Given the description of an element on the screen output the (x, y) to click on. 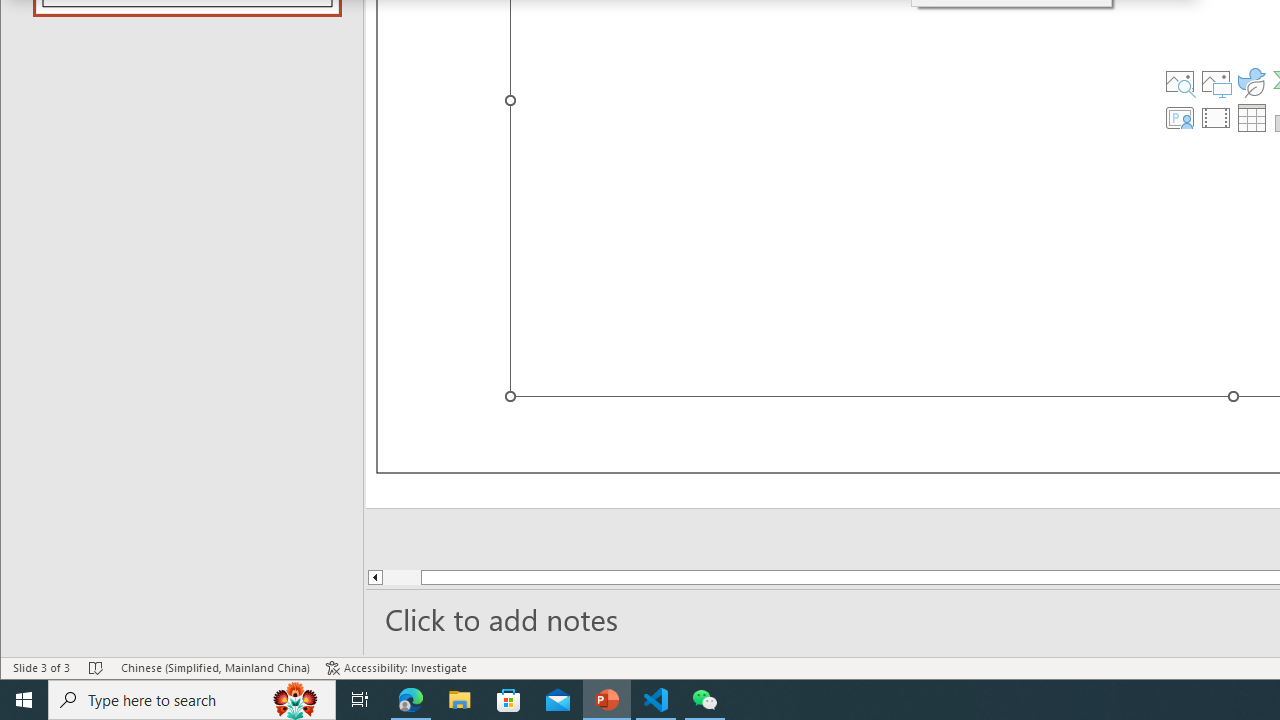
Stock Images (1179, 81)
Microsoft Store (509, 699)
Visual Studio Code - 1 running window (656, 699)
Pictures (1215, 81)
Insert Video (1215, 117)
Start (24, 699)
Page up (438, 577)
Line up (374, 577)
Task View (359, 699)
Insert Table (1252, 117)
Microsoft Edge - 1 running window (411, 699)
Insert an Icon (1252, 81)
